Given the description of an element on the screen output the (x, y) to click on. 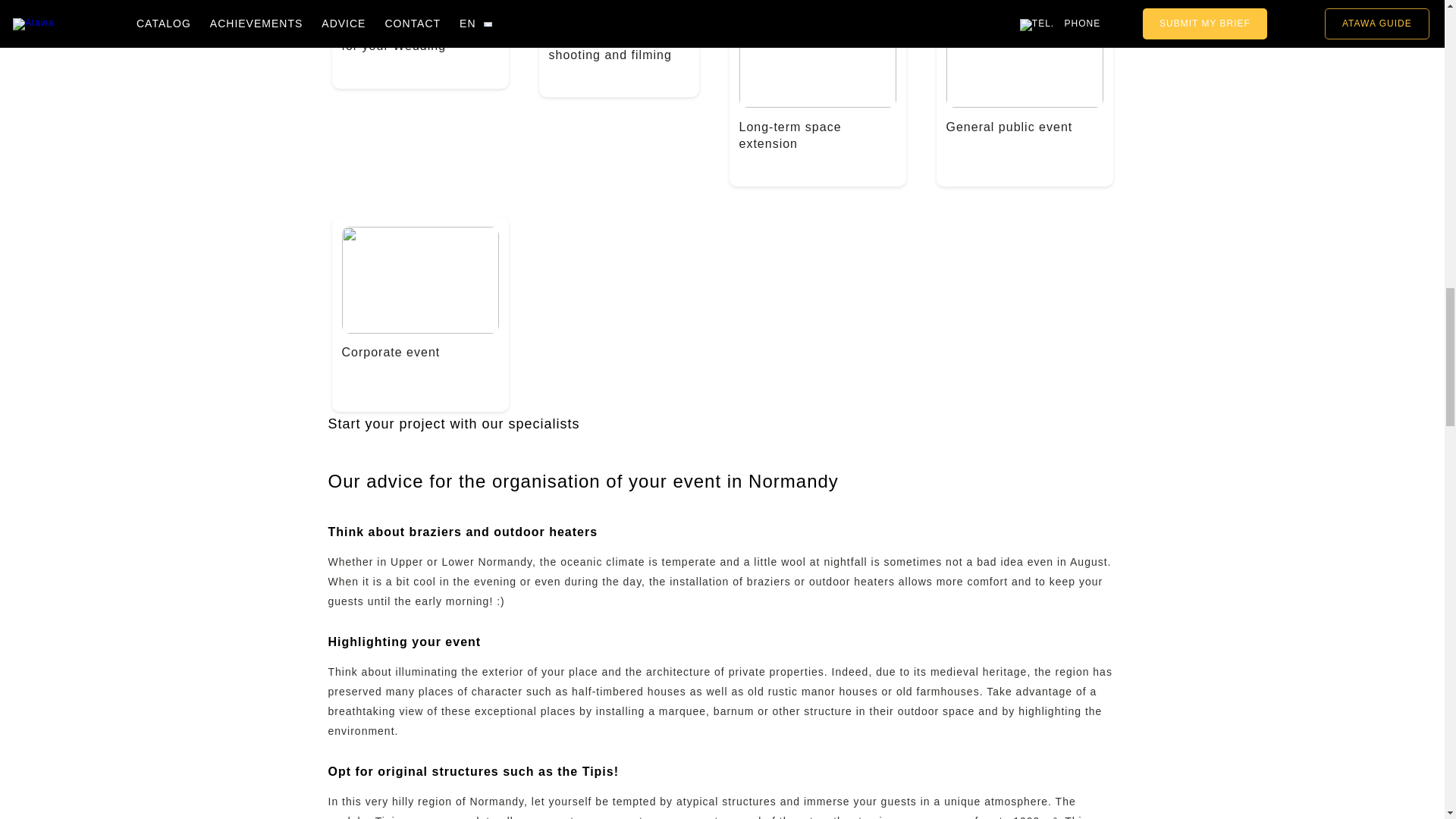
General public event (1024, 143)
Fashion show, shooting and filming (618, 53)
Long-term space extension (816, 143)
